Given the description of an element on the screen output the (x, y) to click on. 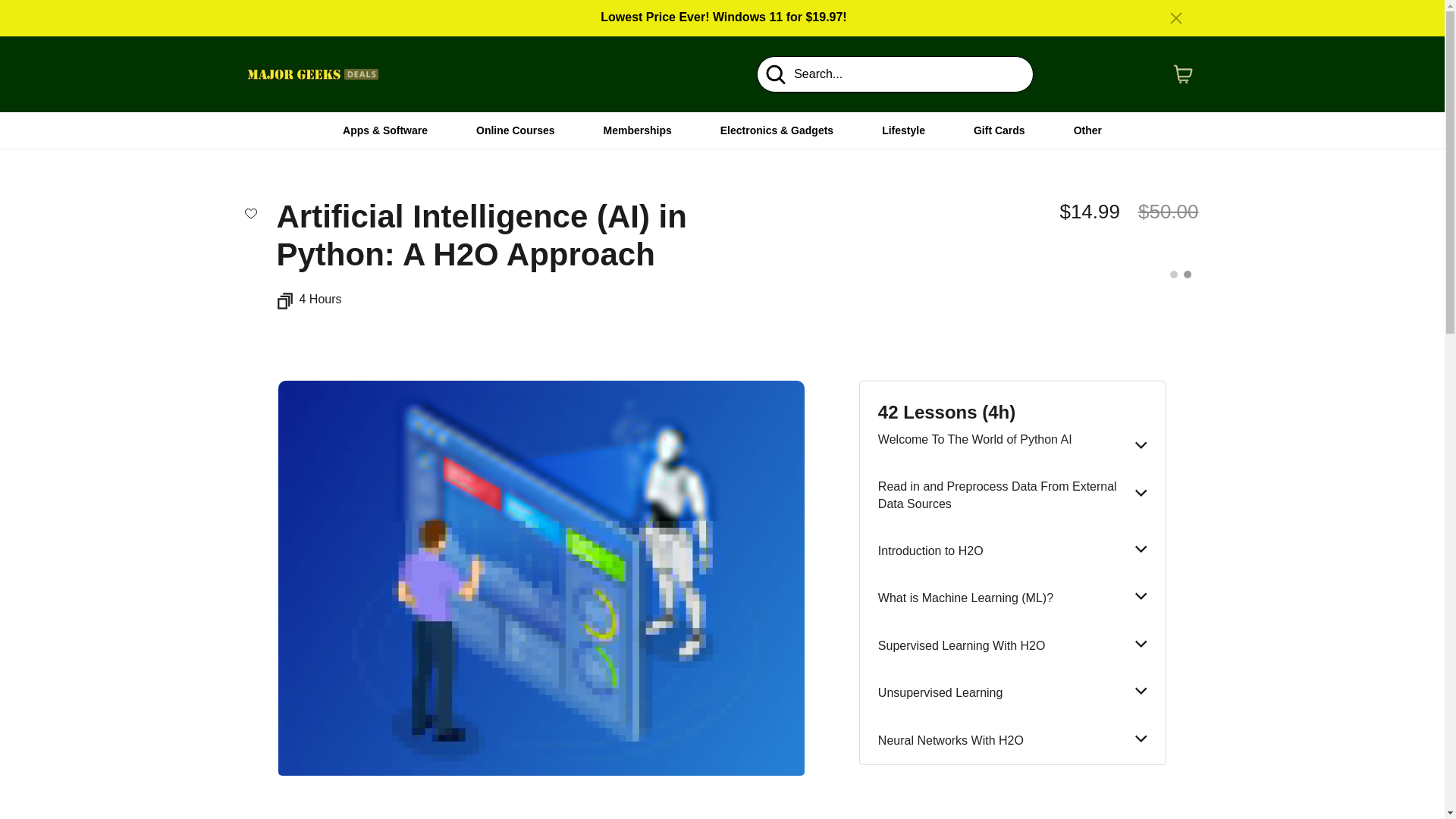
Add to wishlist (250, 212)
